Given the description of an element on the screen output the (x, y) to click on. 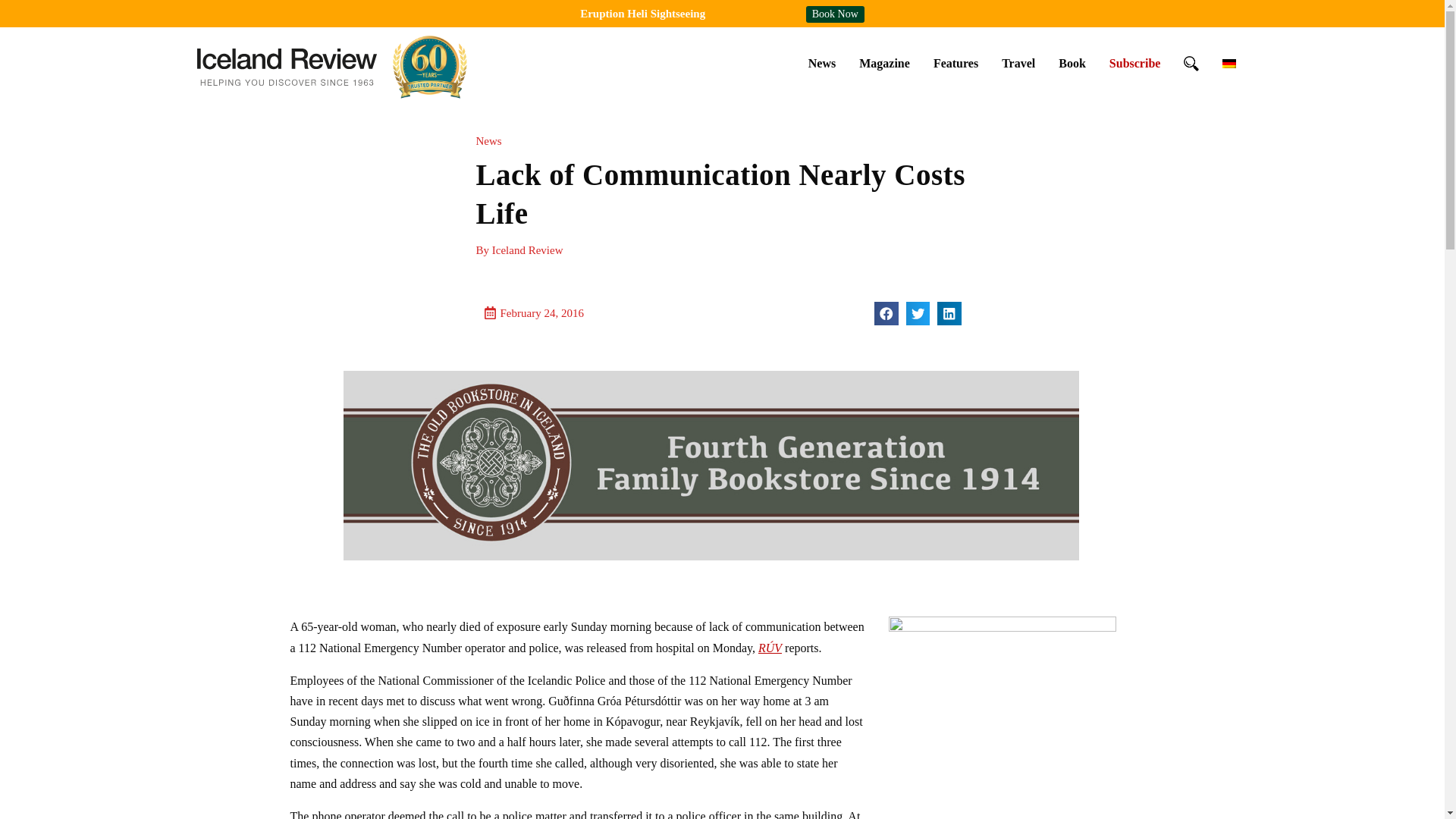
Magazine (884, 63)
Subscribe (1134, 63)
News (821, 63)
Eruption Heli Sightseeing (641, 13)
Book Now (835, 13)
Travel (1018, 63)
Book (1071, 63)
Features (955, 63)
